Given the description of an element on the screen output the (x, y) to click on. 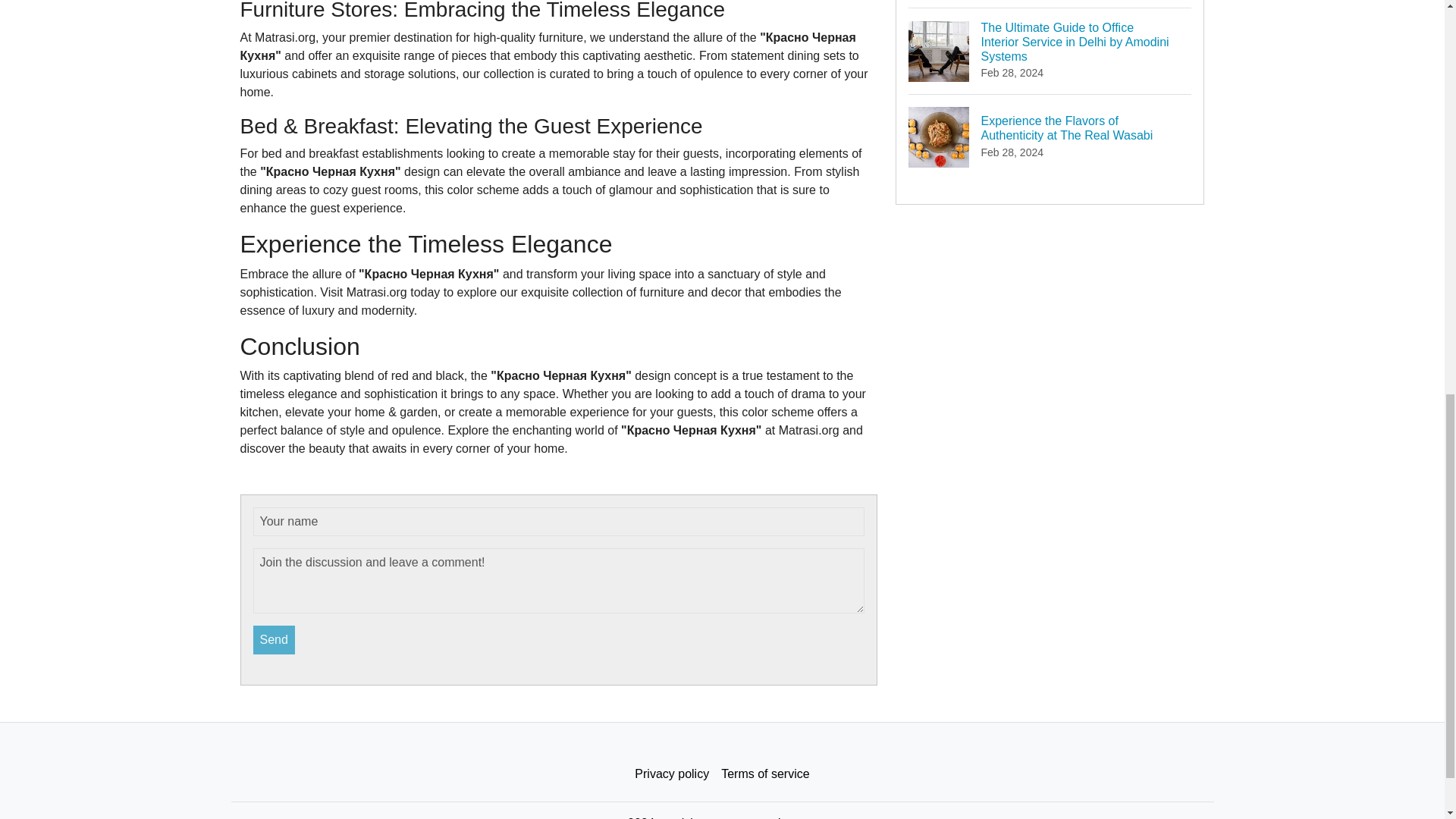
Send (274, 639)
Send (274, 639)
Privacy policy (671, 774)
Terms of service (764, 774)
